Given the description of an element on the screen output the (x, y) to click on. 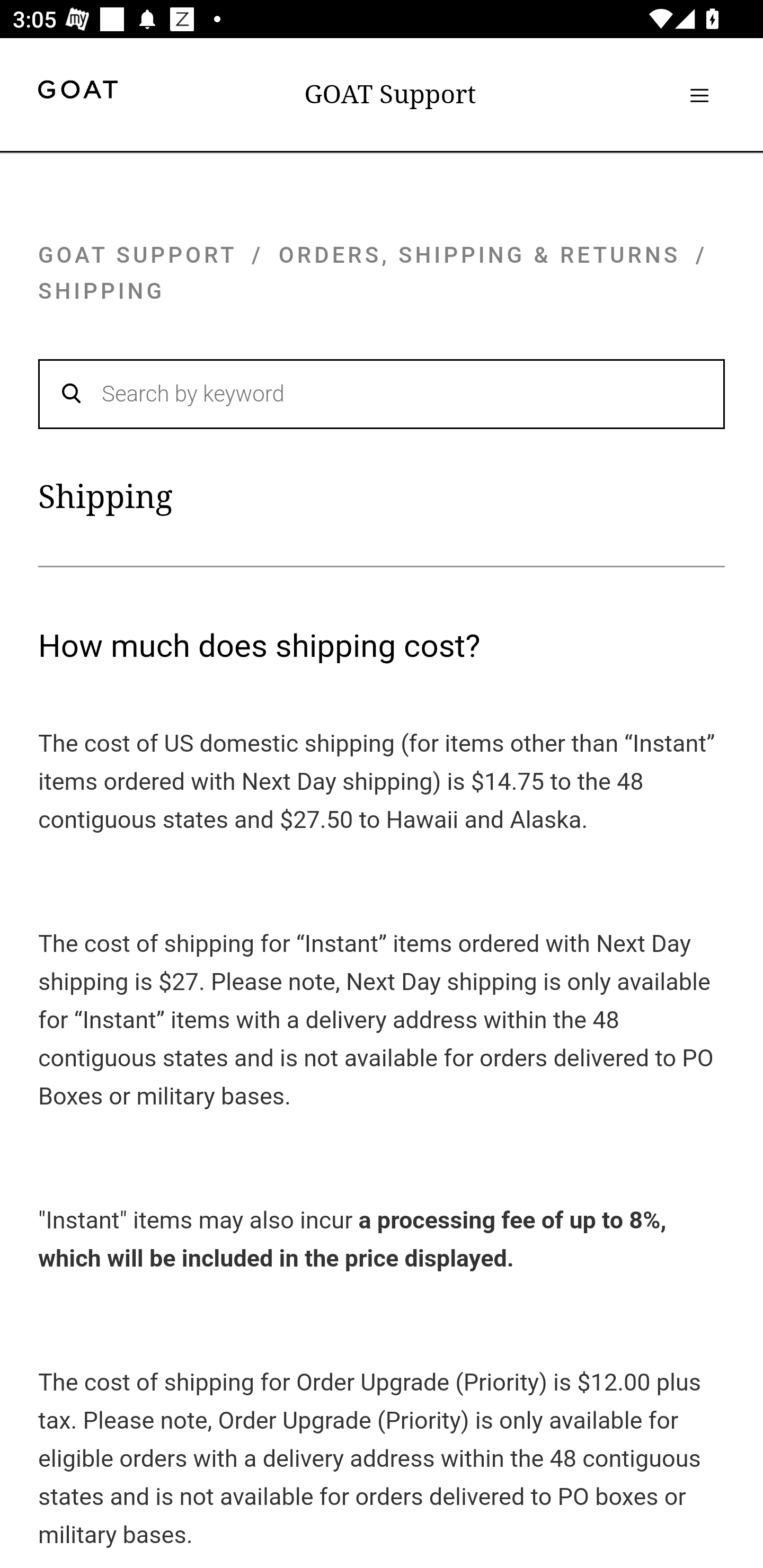
goat header logo (77, 92)
Toggle navigation menu (698, 94)
GOAT Support (389, 94)
GOAT SUPPORT (137, 254)
ORDERS, SHIPPING & RETURNS (480, 254)
SHIPPING (101, 291)
